Given the description of an element on the screen output the (x, y) to click on. 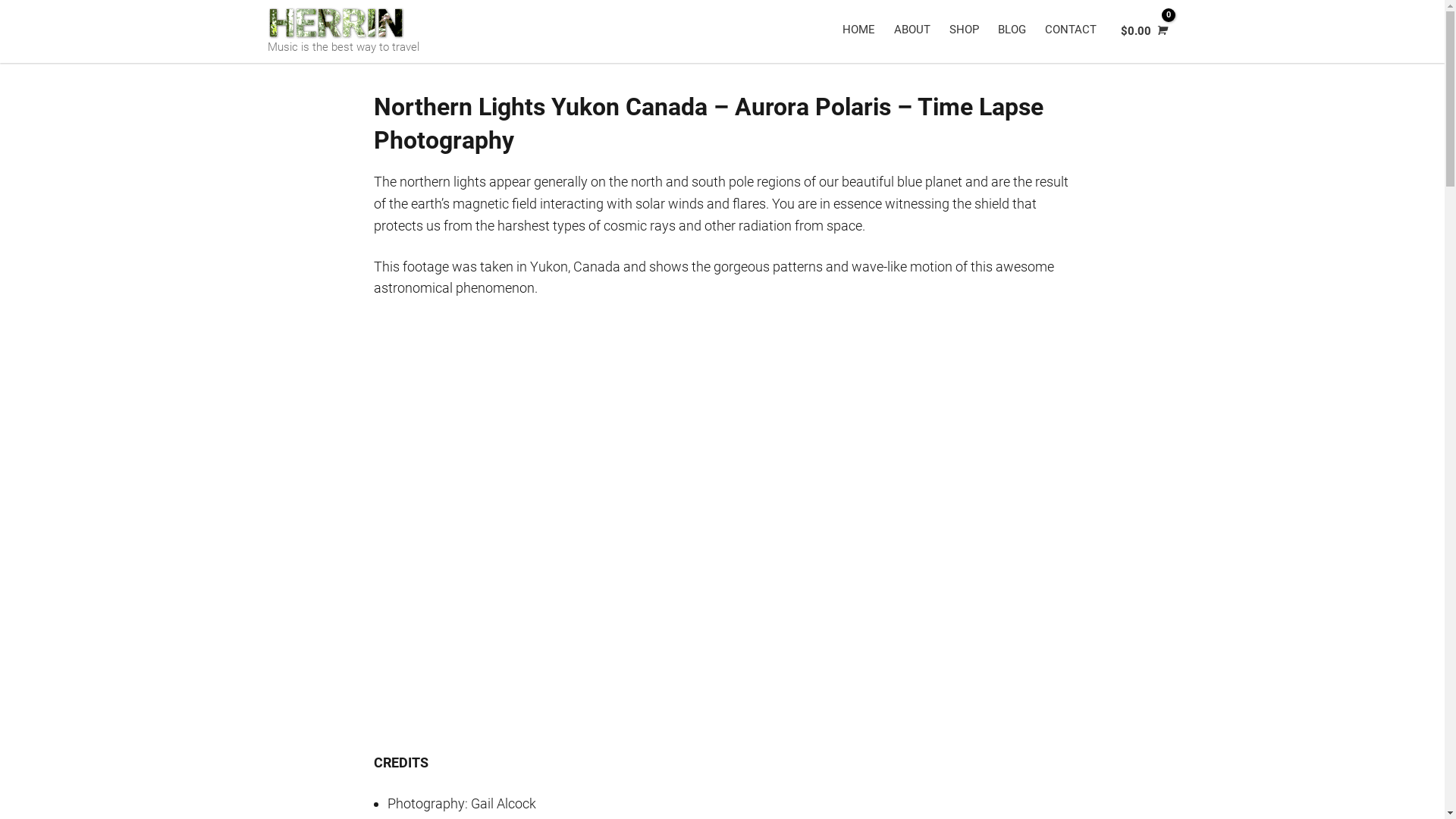
SHOP Element type: text (965, 29)
BLOG Element type: text (1013, 29)
CONTACT Element type: text (1072, 29)
ABOUT Element type: text (913, 29)
HOME Element type: text (859, 29)
$0.00 Element type: text (1142, 31)
